Given the description of an element on the screen output the (x, y) to click on. 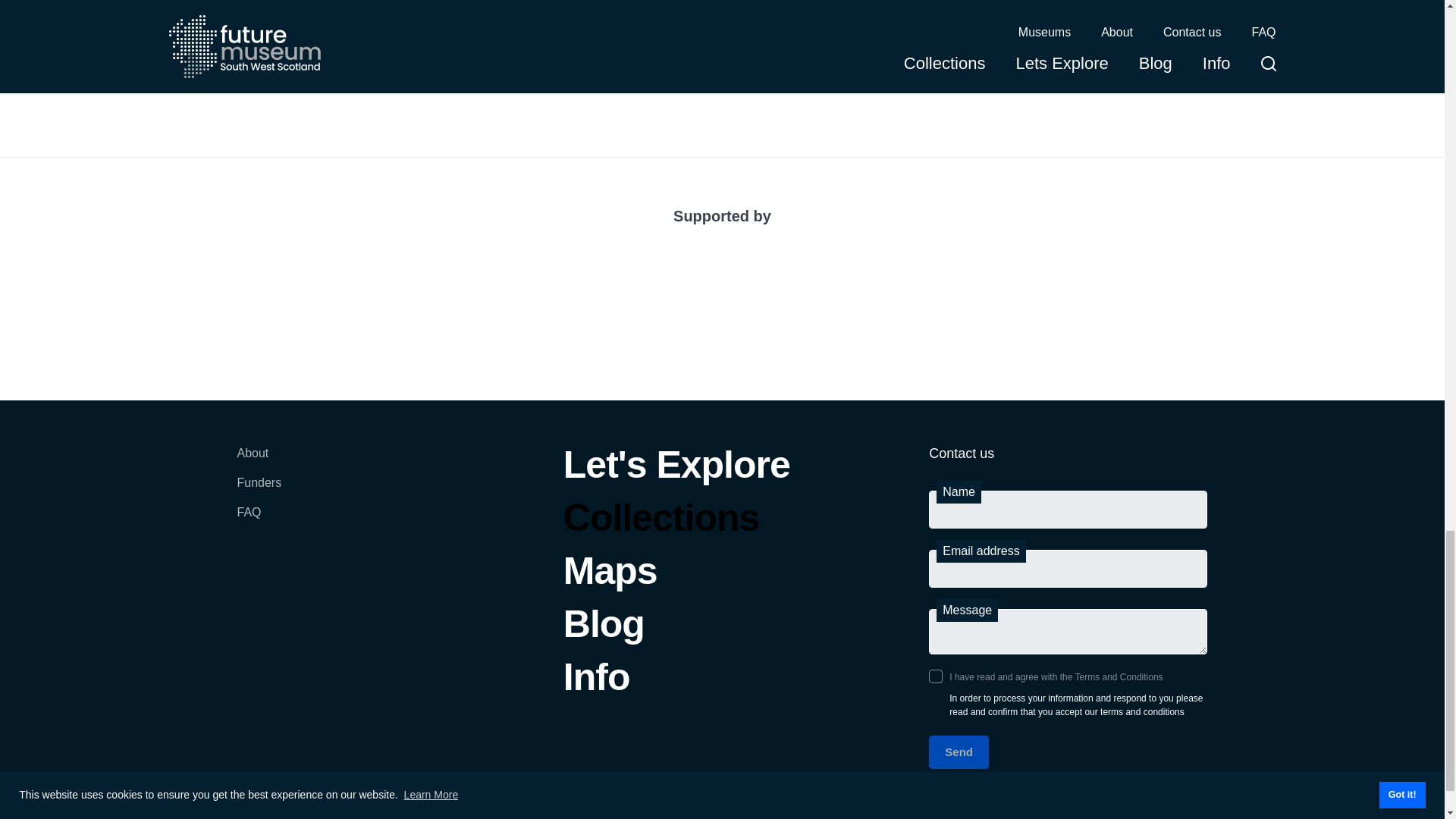
FAQ (258, 519)
Let'S Explore (676, 471)
1 (935, 676)
Funders (258, 490)
About (258, 460)
